Given the description of an element on the screen output the (x, y) to click on. 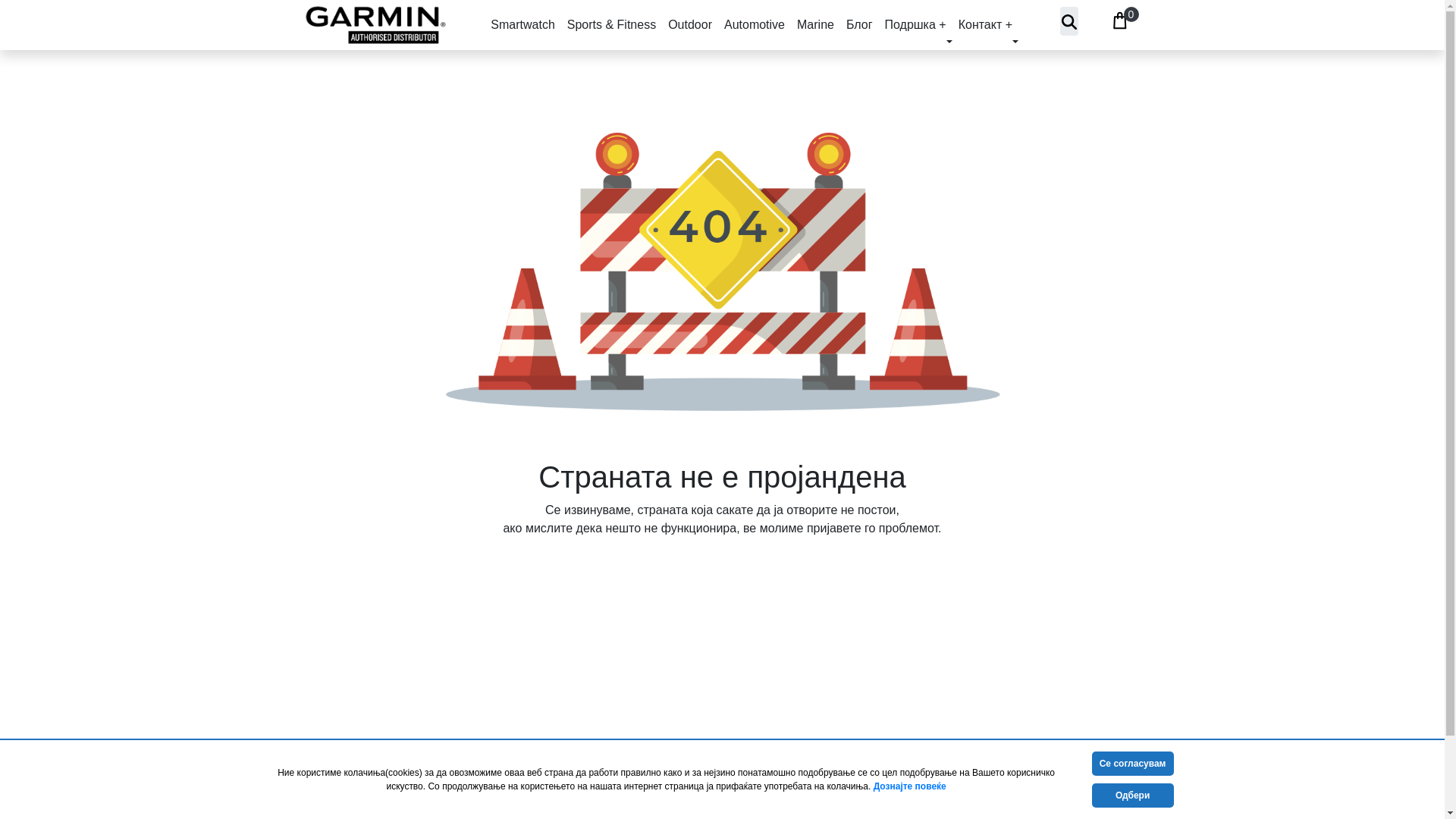
Outdoor (689, 24)
Automotive (753, 24)
Marine (815, 24)
Smartwatch (522, 24)
0 (1119, 18)
